Given the description of an element on the screen output the (x, y) to click on. 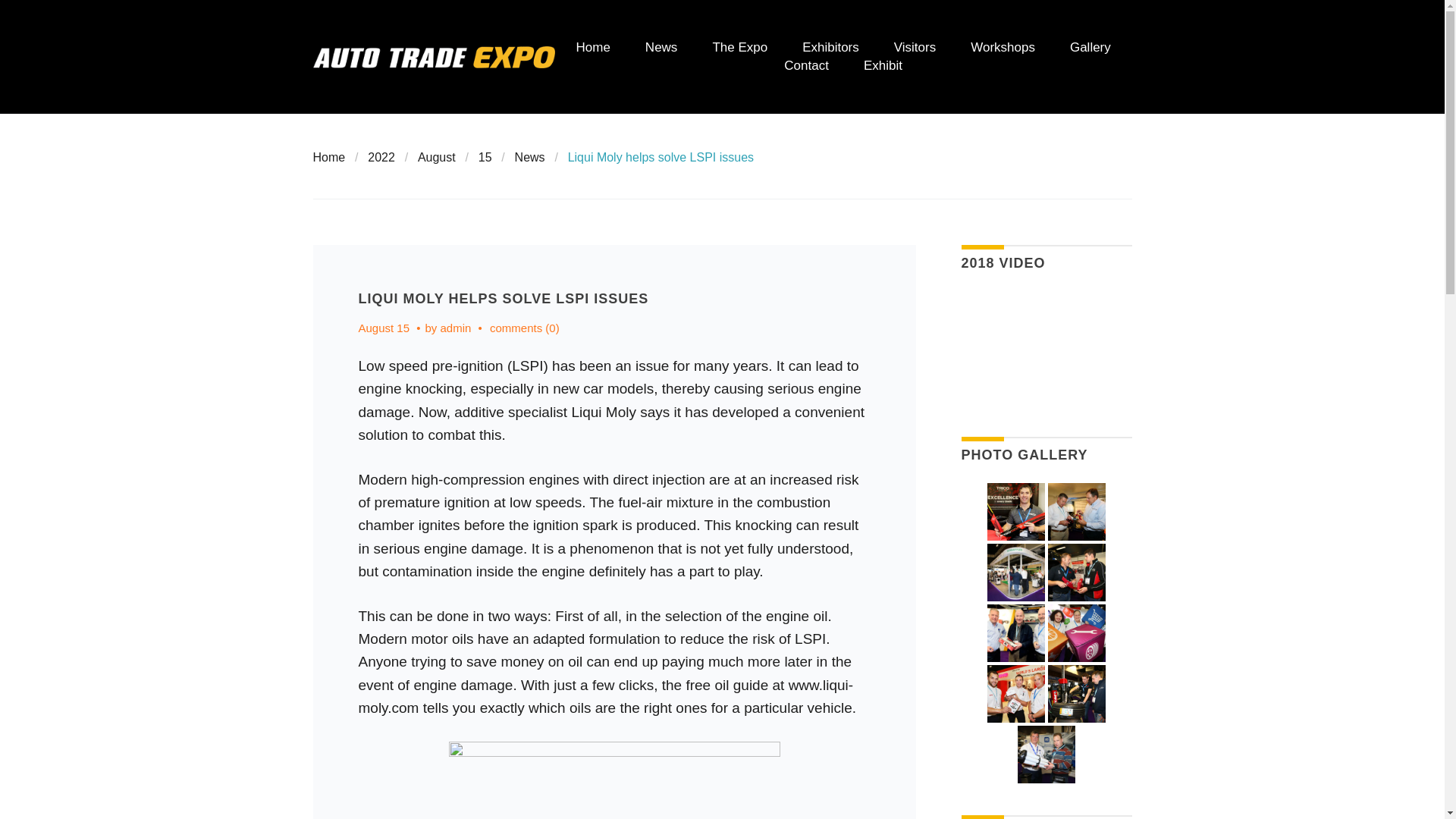
LIQUI MOLY HELPS SOLVE LSPI ISSUES (502, 298)
August 15 (383, 327)
Trico Ltd (1015, 511)
BWS stand 2 (1076, 572)
undefined (1076, 693)
Home (593, 47)
News (529, 156)
undefined (1076, 511)
Home (329, 156)
2022 (381, 156)
Exhibit (882, 65)
admin (456, 327)
August (436, 156)
undefined (1016, 632)
Compilator Ltd. (1076, 632)
